Given the description of an element on the screen output the (x, y) to click on. 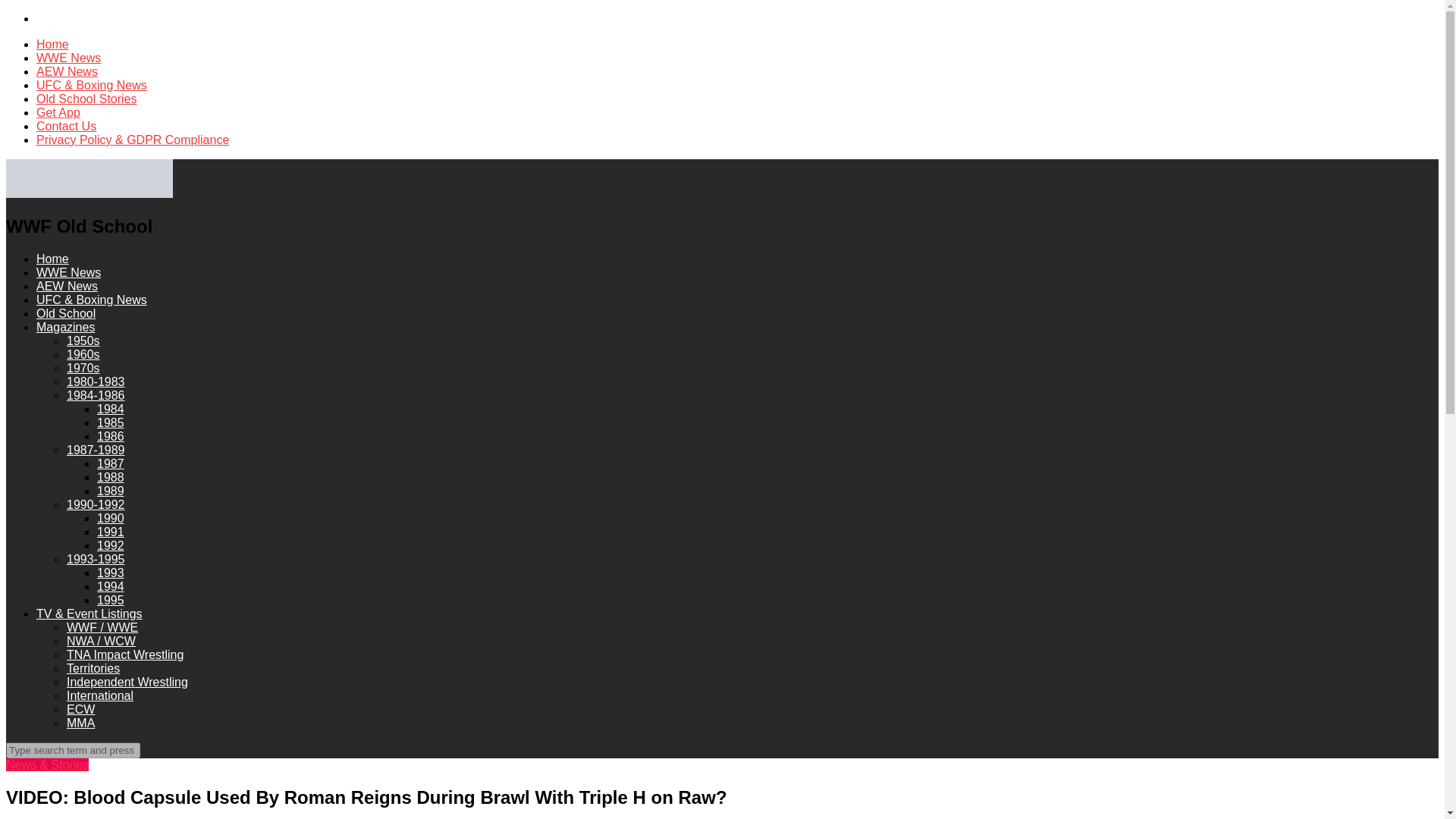
1950s (83, 340)
1992 (110, 545)
1960s (83, 354)
1984-1986 (95, 395)
1991 (110, 531)
1990 (110, 517)
Contact Us (66, 125)
Old School Stories (86, 98)
TNA Impact Wrestling (124, 654)
1994 (110, 585)
